Given the description of an element on the screen output the (x, y) to click on. 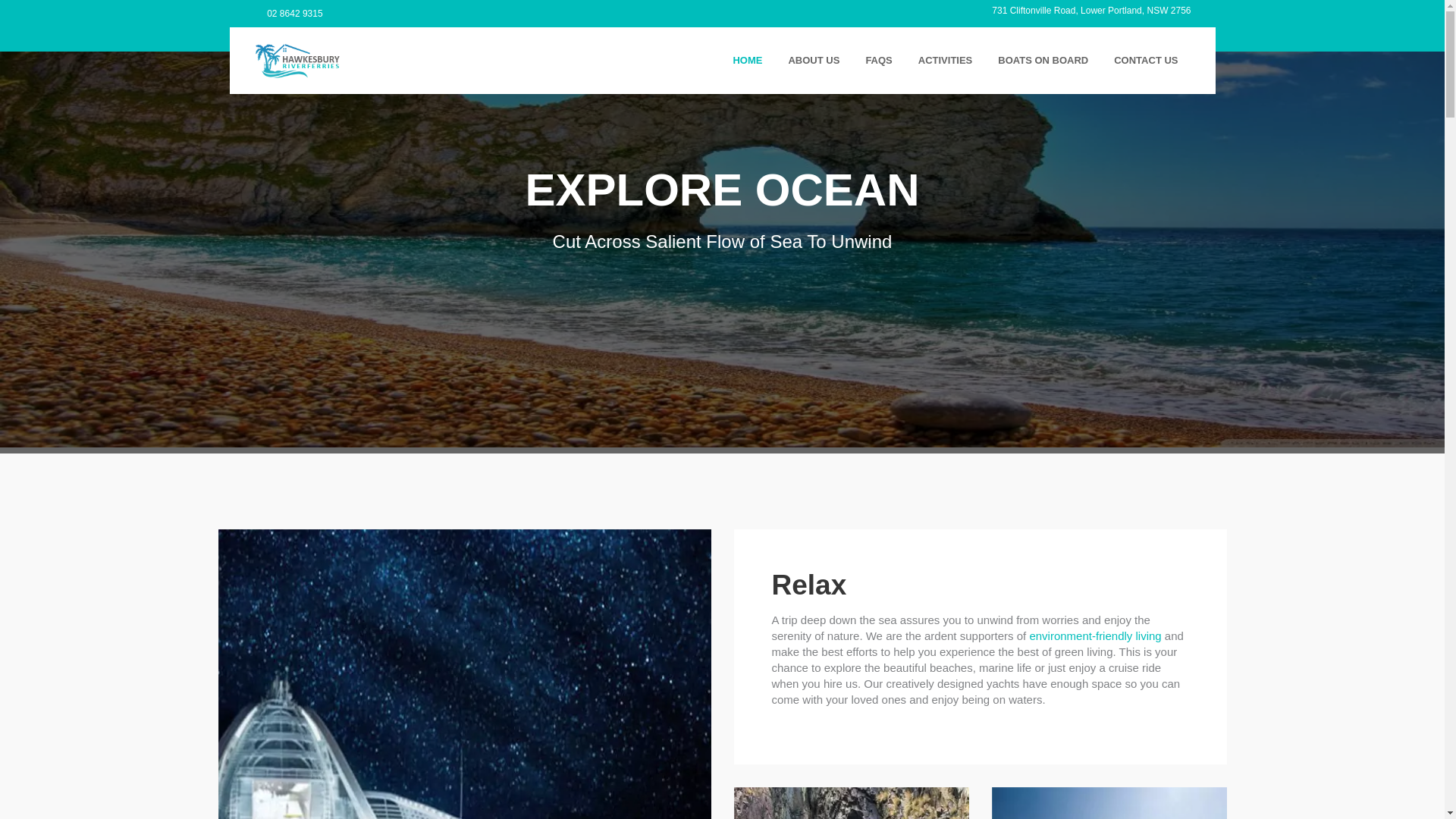
ABOUT US Element type: text (813, 60)
FAQS Element type: text (878, 60)
CONTACT US Element type: text (1145, 60)
environment-friendly living Element type: text (1095, 635)
ACTIVITIES Element type: text (945, 60)
BOATS ON BOARD Element type: text (1043, 60)
HOME Element type: text (747, 60)
